Given the description of an element on the screen output the (x, y) to click on. 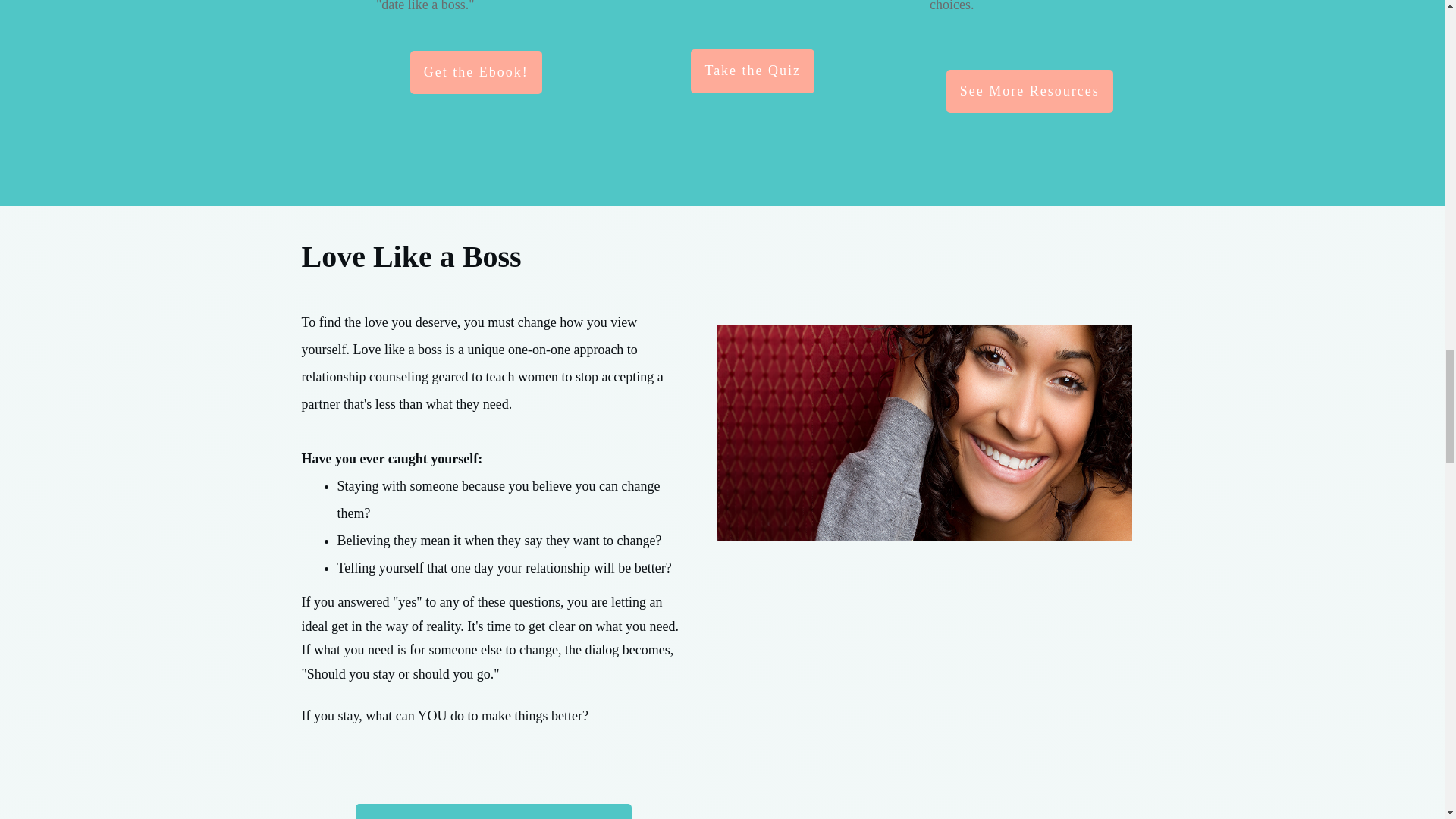
Are you ready to Love Like a Boss? (493, 811)
Take the Quiz (751, 71)
Get the Ebook! (475, 72)
See More Resources (1029, 91)
